Given the description of an element on the screen output the (x, y) to click on. 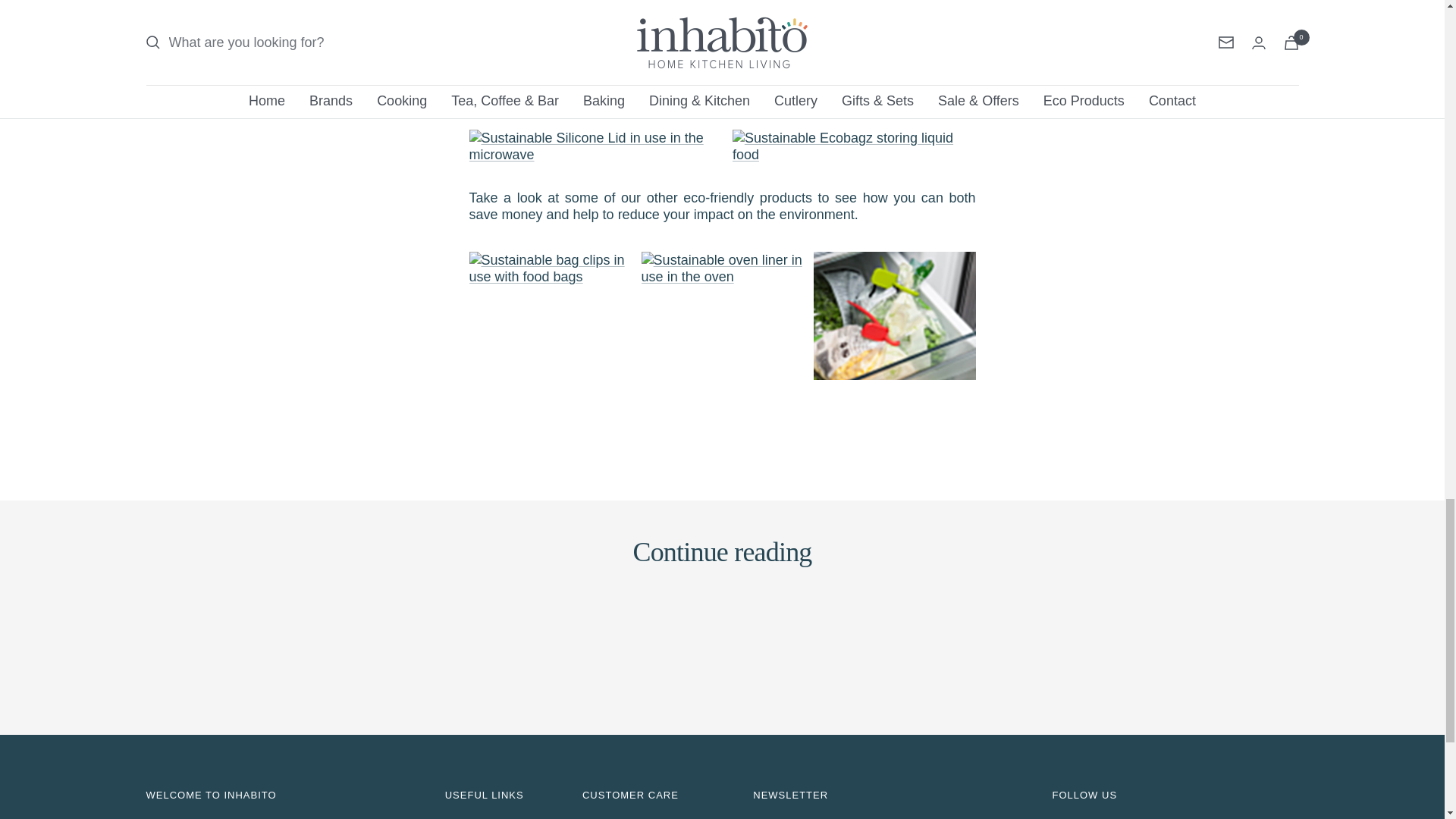
EcoBagz Storage Bags (853, 146)
Eco Food Ties (894, 332)
Eco Bags (596, 7)
Eco SIlicone Storage Lids (589, 146)
Kilo Oven Liner (722, 268)
Eco Bag Clips (549, 268)
